Given the description of an element on the screen output the (x, y) to click on. 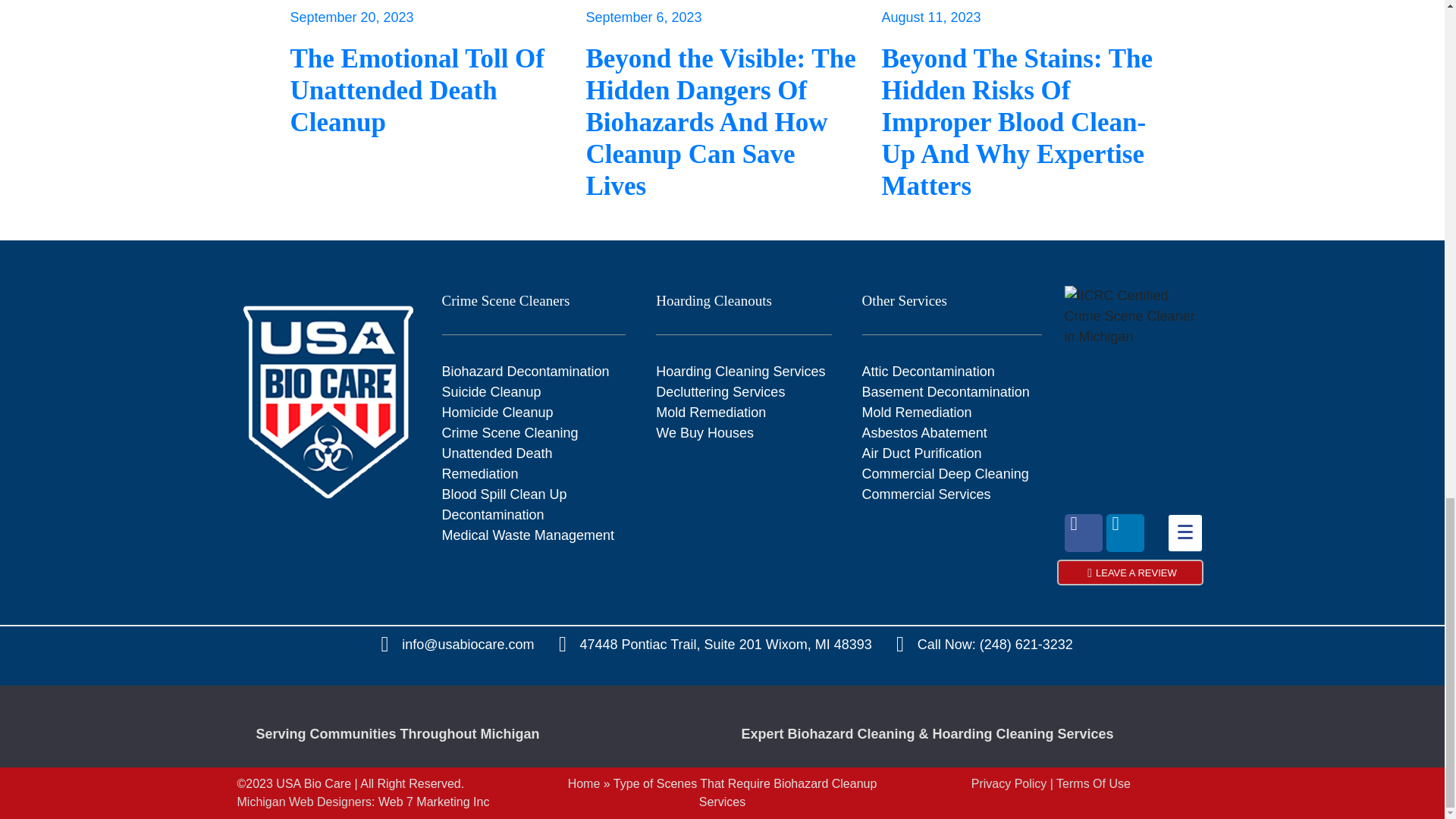
Michigan Web Designers and SEO Firm, Web 7 Marketing Inc (303, 801)
